Given the description of an element on the screen output the (x, y) to click on. 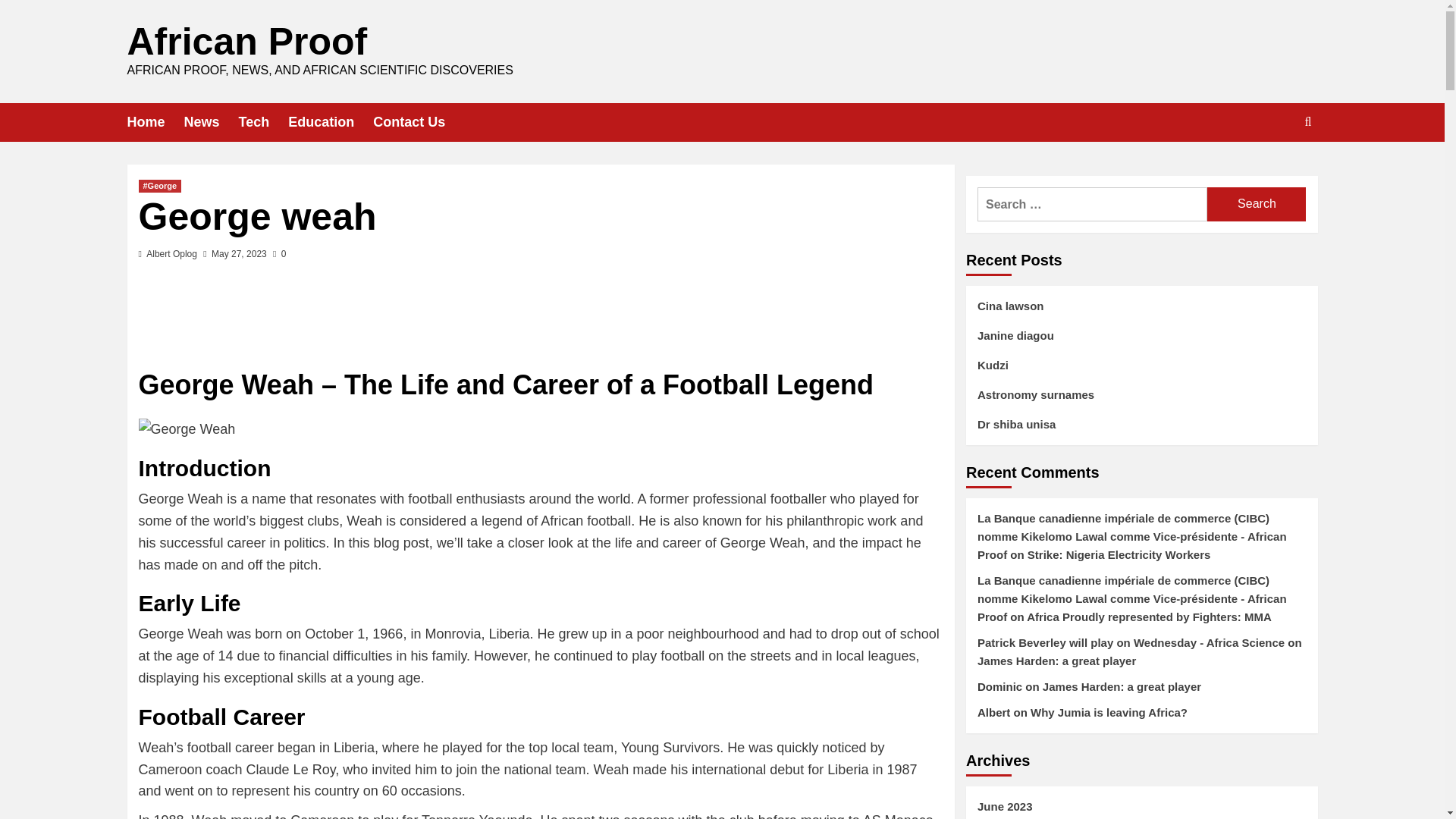
James Harden: a great player (1121, 686)
Why Jumia is leaving Africa? (1109, 712)
Home (156, 122)
Tech (263, 122)
June 2023 (1141, 808)
Astronomy surnames (1141, 400)
Search (1256, 204)
Cina lawson (1141, 311)
African Proof (248, 41)
Patrick Beverley will play on Wednesday - Africa Science (1130, 642)
0 (279, 253)
Education (330, 122)
Janine diagou (1141, 341)
Strike: Nigeria Electricity Workers (1119, 554)
May 27, 2023 (238, 253)
